Given the description of an element on the screen output the (x, y) to click on. 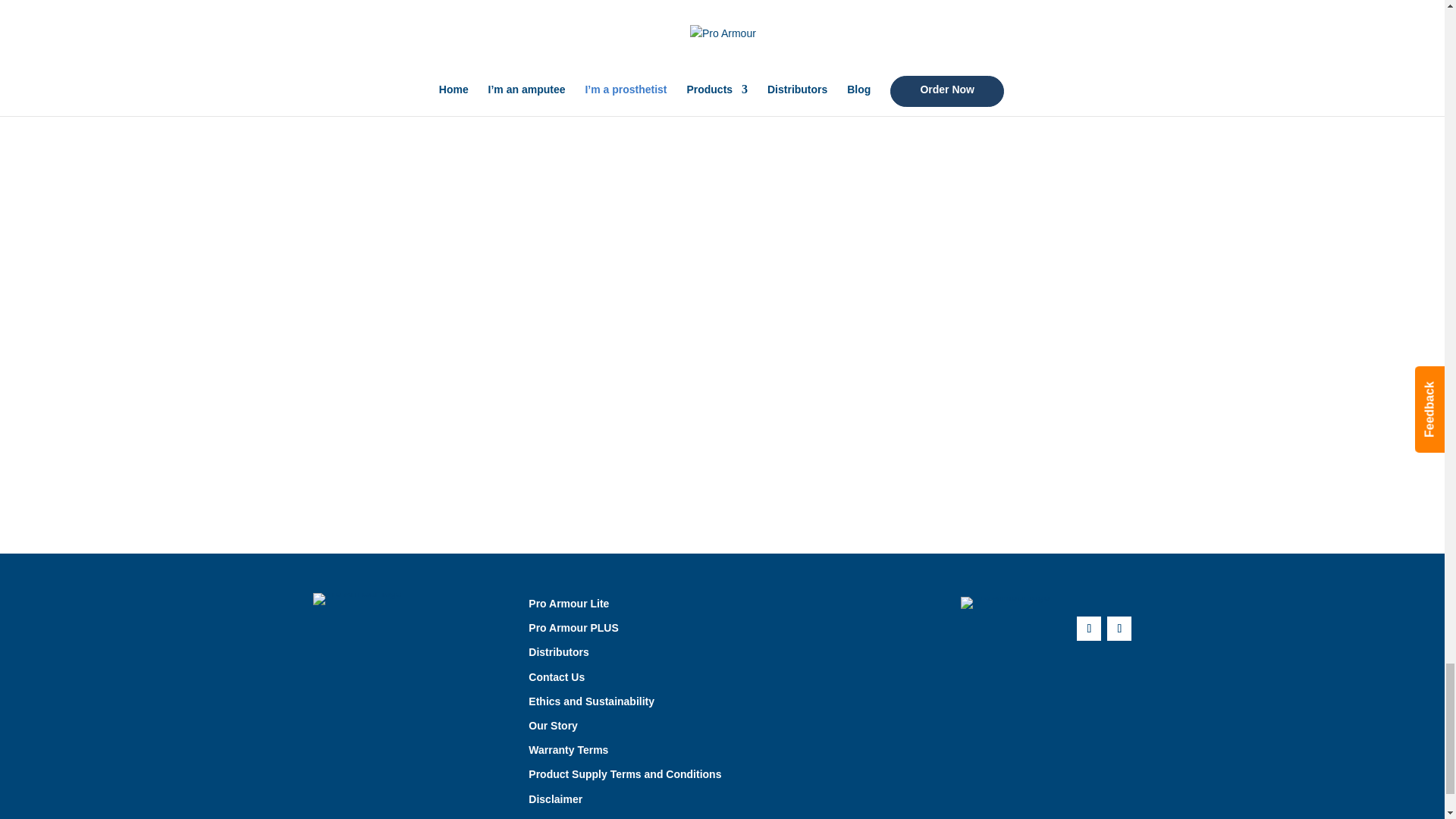
Follow on Facebook (1088, 628)
Warranty Terms (568, 749)
Follow on Instagram (1118, 628)
Pro Armour PLUS (573, 627)
Pro Armour Lite (568, 603)
Ethics and Sustainability (590, 701)
Distributors (558, 652)
Our Story (553, 725)
Disclaimer (555, 799)
Product Supply Terms and Conditions (624, 774)
